Given the description of an element on the screen output the (x, y) to click on. 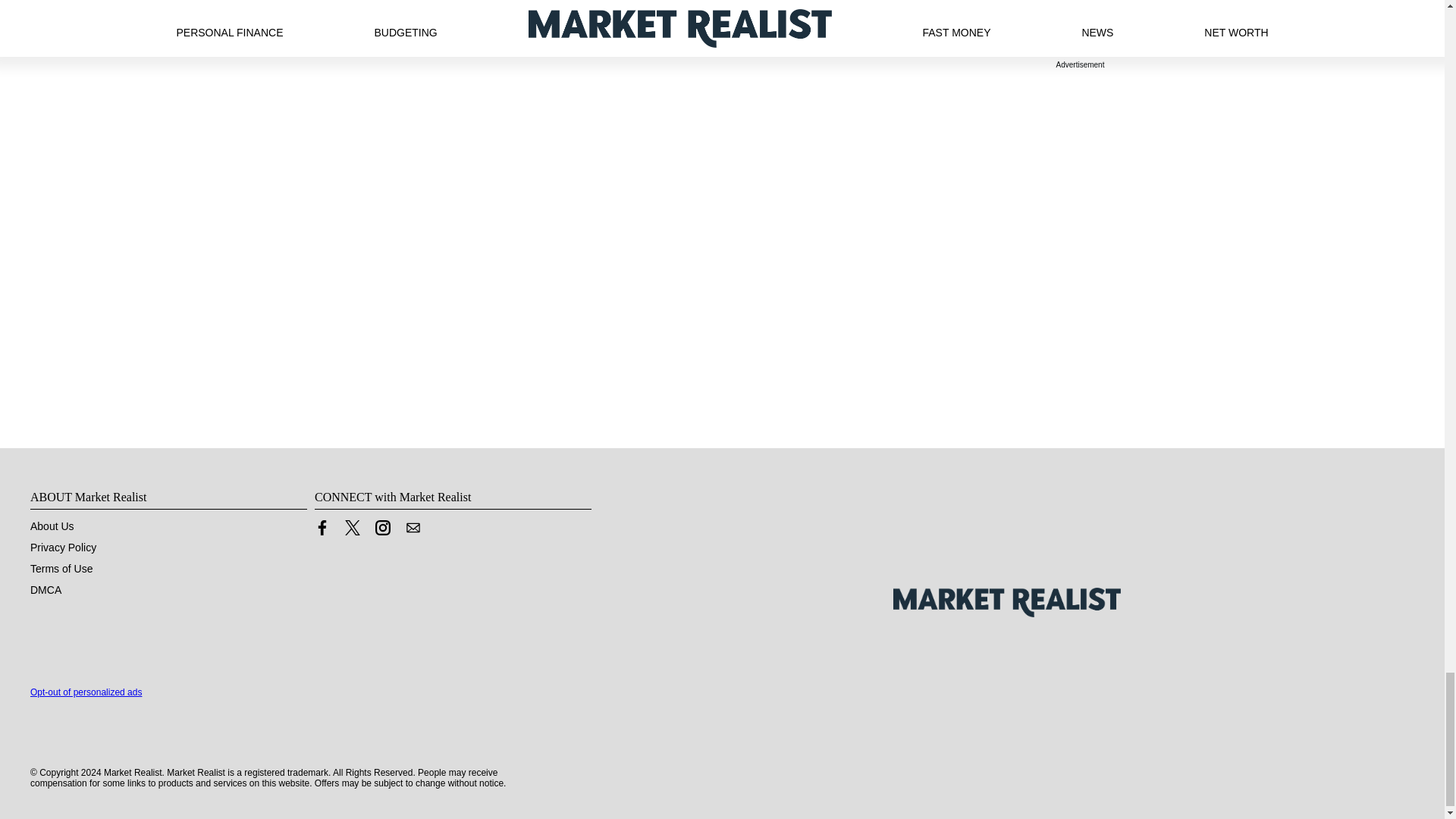
Opt-out of personalized ads (85, 692)
Link to Instagram (382, 531)
Terms of Use (61, 568)
Privacy Policy (63, 547)
Link to Facebook (322, 527)
Link to Facebook (322, 531)
Contact us by Email (413, 531)
Link to Instagram (382, 527)
Terms of Use (61, 568)
Privacy Policy (63, 547)
